Given the description of an element on the screen output the (x, y) to click on. 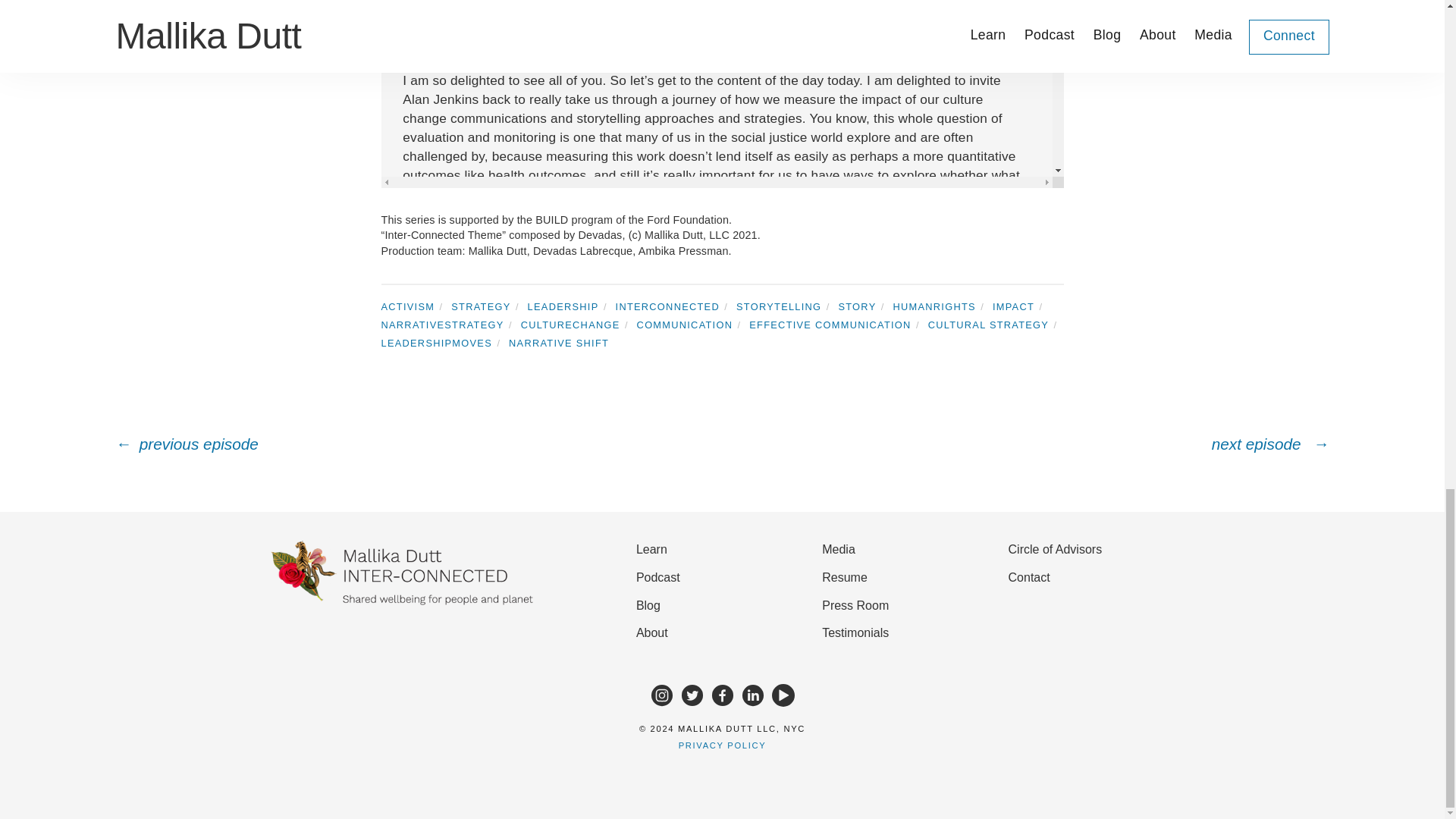
NARRATIVE SHIFT (563, 342)
COMMUNICATION (691, 324)
Facebook (722, 694)
EFFECTIVE COMMUNICATION (836, 324)
NARRATIVESTRATEGY (448, 324)
previous episode (418, 443)
Substack (752, 694)
Instagram (661, 694)
HUMANRIGHTS (941, 306)
ACTIVISM (413, 306)
Learn (717, 550)
CULTURECHANGE (577, 324)
next episode (1024, 443)
IMPACT (1020, 306)
STRATEGY (487, 306)
